Given the description of an element on the screen output the (x, y) to click on. 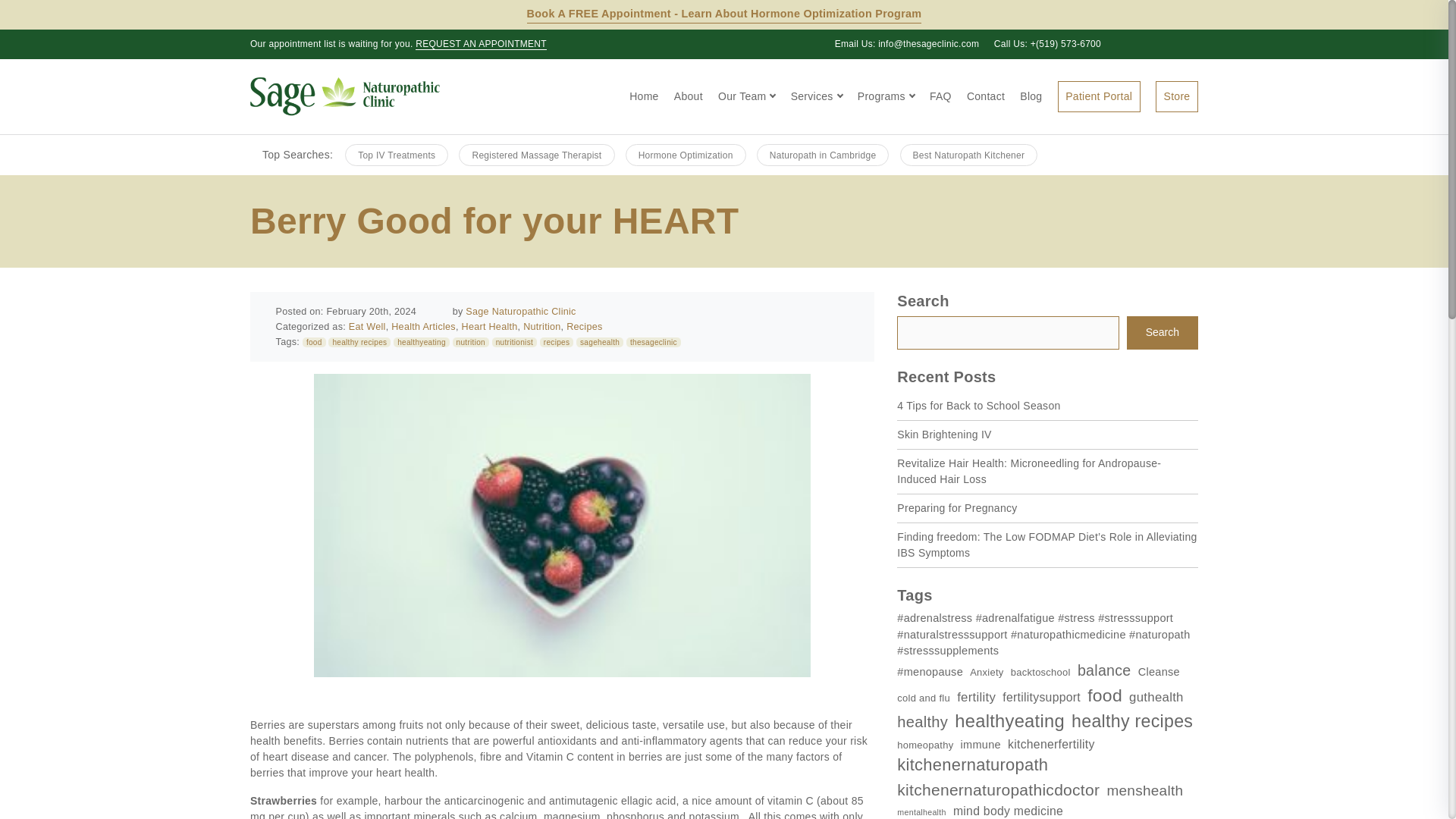
Our Team (745, 96)
Home (643, 96)
Posts by Sage Naturopathic Clinic (520, 311)
Services (816, 96)
REQUEST AN APPOINTMENT (480, 43)
About (688, 96)
